Given the description of an element on the screen output the (x, y) to click on. 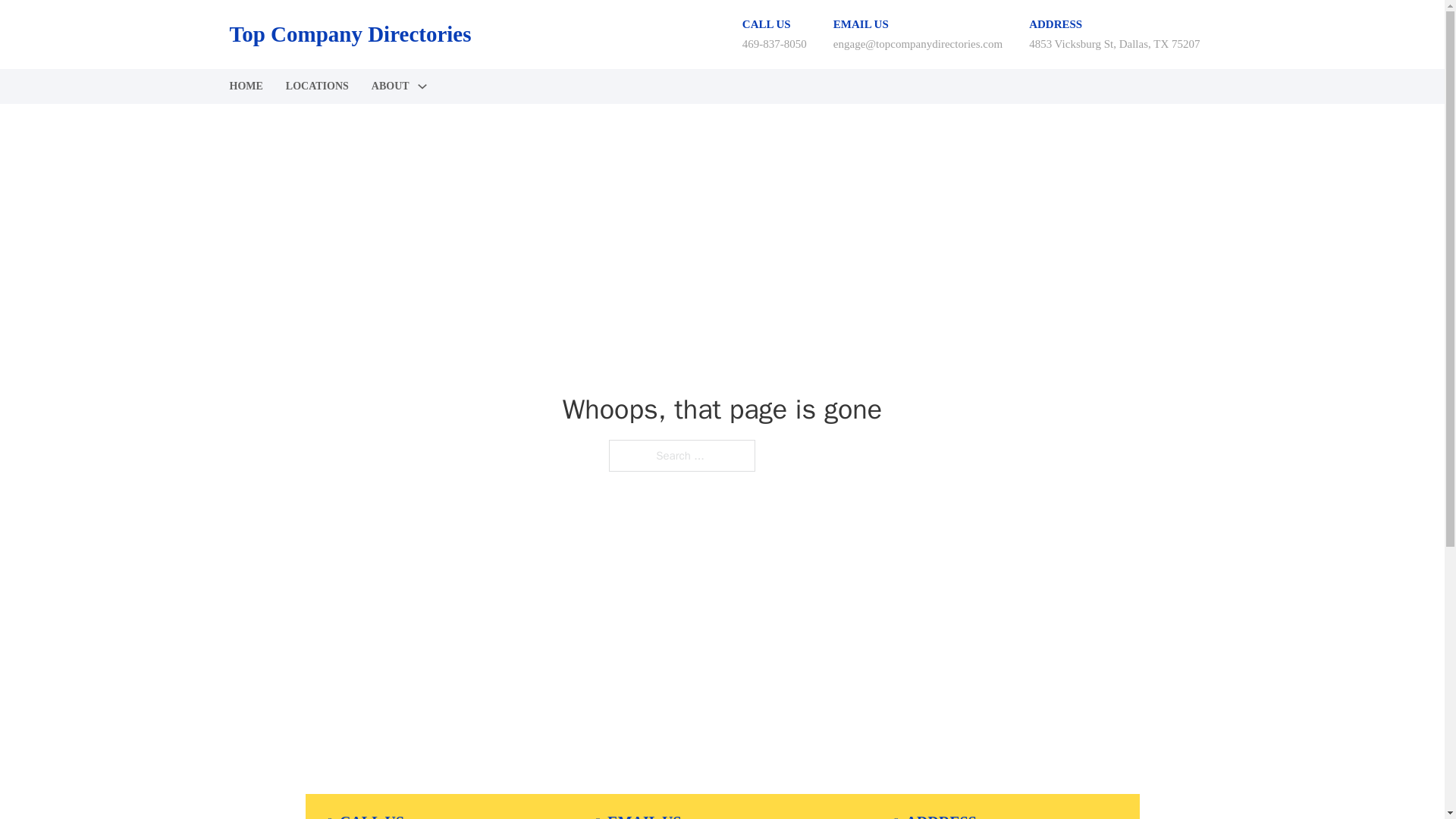
HOME (245, 85)
Top Company Directories (349, 34)
LOCATIONS (317, 85)
469-837-8050 (774, 43)
